Given the description of an element on the screen output the (x, y) to click on. 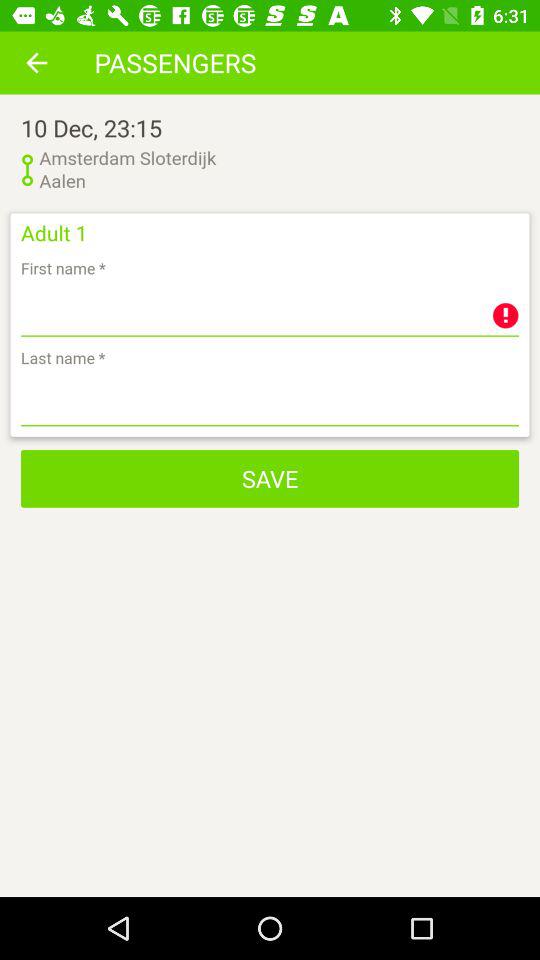
enter first name (270, 310)
